Given the description of an element on the screen output the (x, y) to click on. 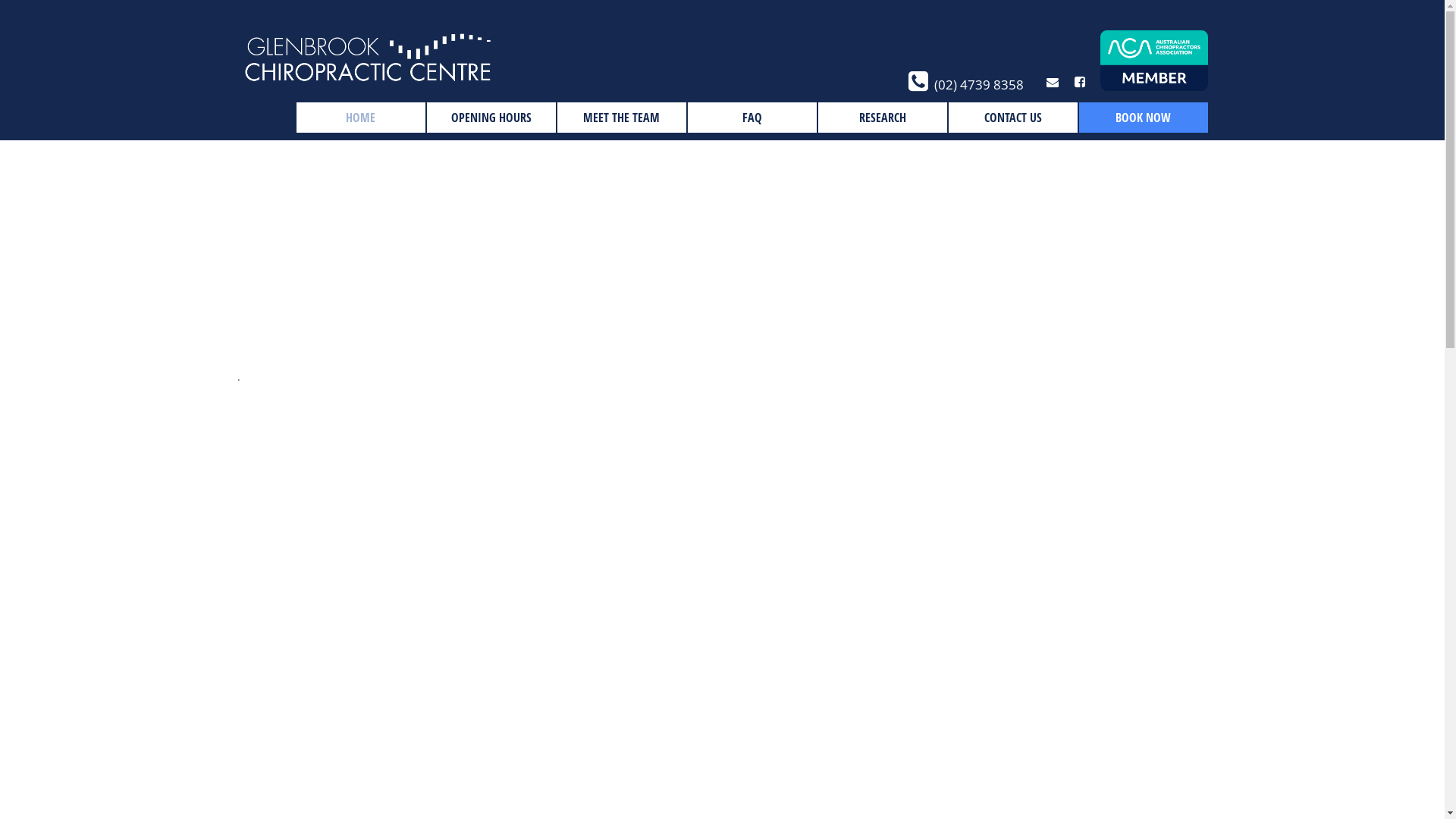
CONTACT US Element type: text (1011, 117)
OPENING HOURS Element type: text (490, 117)
MEET THE TEAM Element type: text (620, 117)
BOOK NOW Element type: text (1142, 117)
FAQ Element type: text (751, 117)
Glenbrook Chiropractic Centre Element type: hover (367, 75)
HOME Element type: text (359, 117)
RESEARCH Element type: text (881, 117)
